Given the description of an element on the screen output the (x, y) to click on. 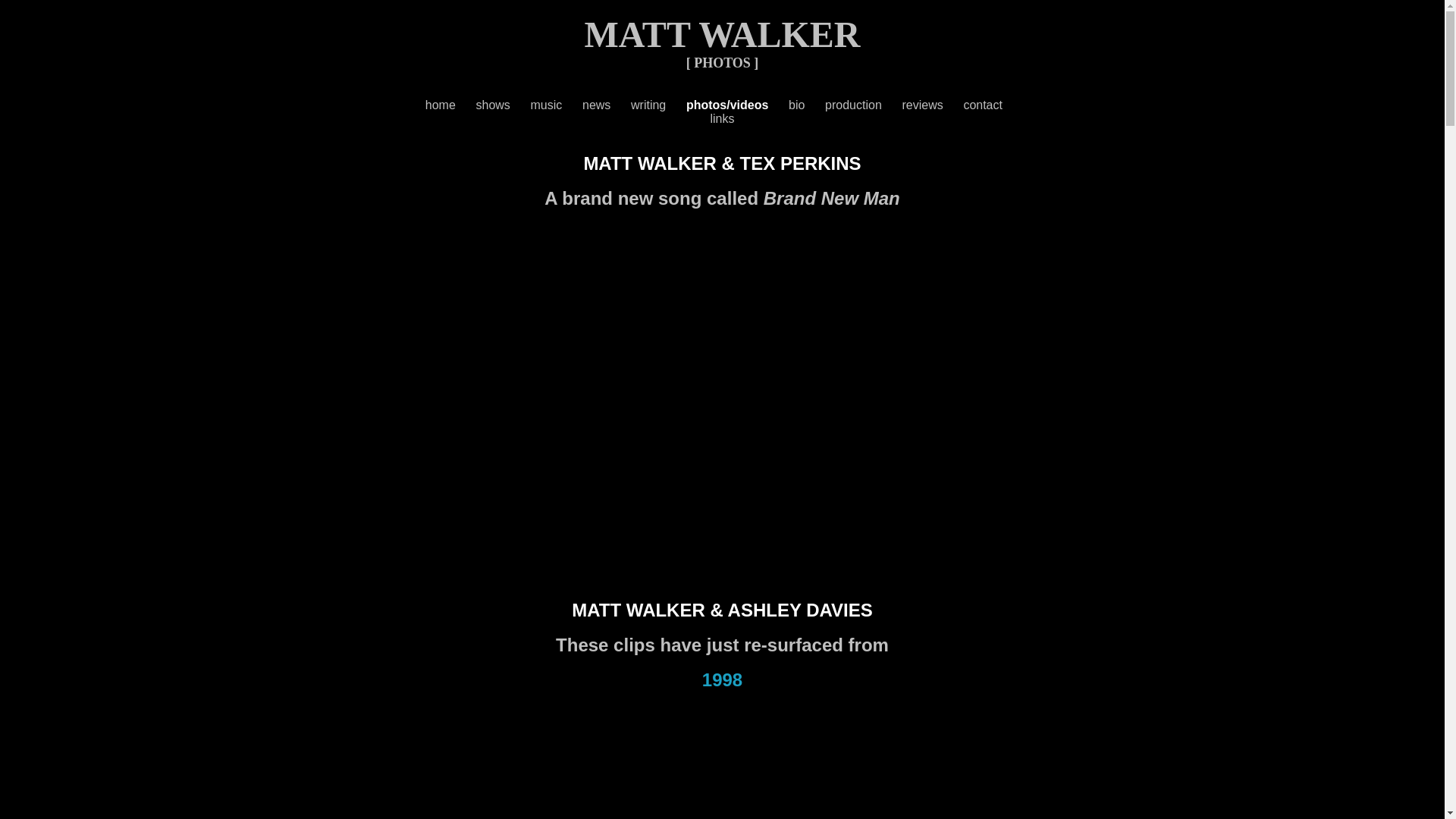
writing      Element type: text (658, 104)
contact      Element type: text (991, 104)
news Element type: text (596, 104)
music      Element type: text (556, 104)
reviews      Element type: text (932, 104)
home      Element type: text (450, 104)
bio      Element type: text (806, 104)
Tex Perkins - Brand New Man (Live from Happy) Element type: hover (720, 388)
production      Element type: text (863, 104)
links Element type: text (721, 118)
shows      Element type: text (503, 104)
photos/videos      Element type: text (737, 104)
